Given the description of an element on the screen output the (x, y) to click on. 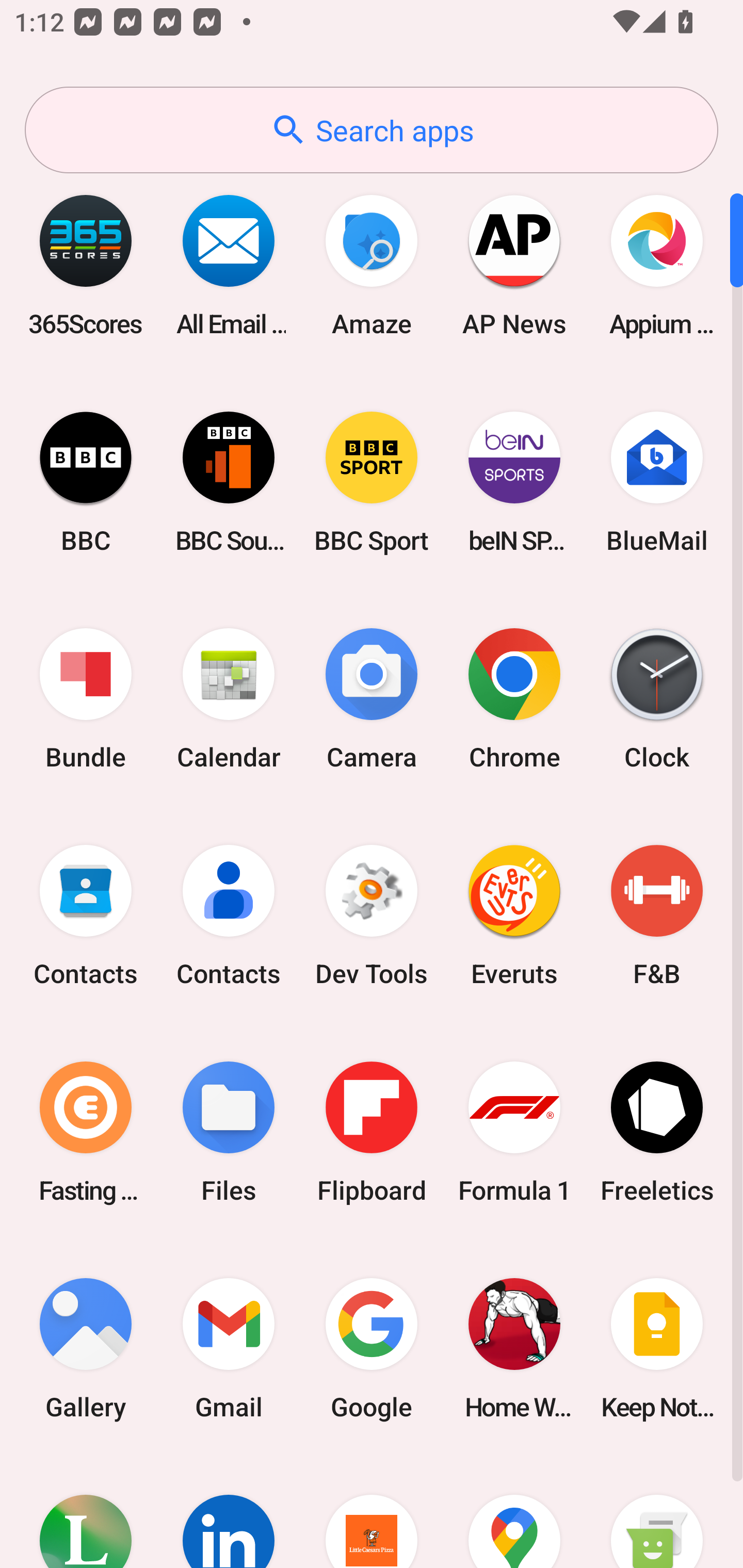
  Search apps (371, 130)
365Scores (85, 264)
All Email Connect (228, 264)
Amaze (371, 264)
AP News (514, 264)
Appium Settings (656, 264)
BBC (85, 482)
BBC Sounds (228, 482)
BBC Sport (371, 482)
beIN SPORTS (514, 482)
BlueMail (656, 482)
Bundle (85, 699)
Calendar (228, 699)
Camera (371, 699)
Chrome (514, 699)
Clock (656, 699)
Contacts (85, 915)
Contacts (228, 915)
Dev Tools (371, 915)
Everuts (514, 915)
F&B (656, 915)
Fasting Coach (85, 1131)
Files (228, 1131)
Flipboard (371, 1131)
Formula 1 (514, 1131)
Freeletics (656, 1131)
Gallery (85, 1348)
Gmail (228, 1348)
Google (371, 1348)
Home Workout (514, 1348)
Keep Notes (656, 1348)
Lifesum (85, 1512)
LinkedIn (228, 1512)
Little Caesars Pizza (371, 1512)
Maps (514, 1512)
Messaging (656, 1512)
